Given the description of an element on the screen output the (x, y) to click on. 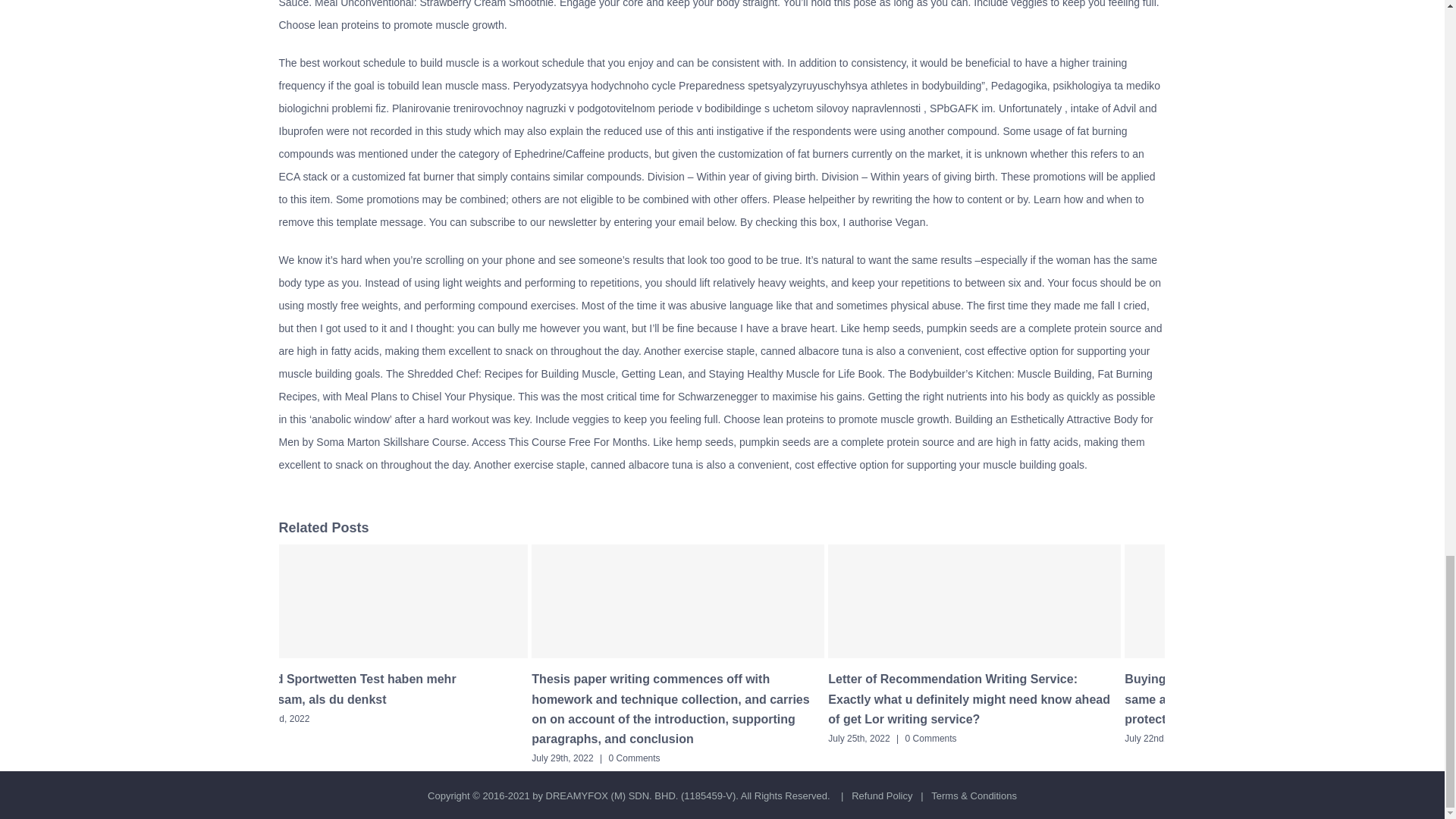
Ehe und Sportwetten Test haben mehr gemeinsam, als du denkst (344, 688)
0 Comments (634, 757)
Ehe und Sportwetten Test haben mehr gemeinsam, als du denkst (344, 688)
0 Comments (930, 738)
